Given the description of an element on the screen output the (x, y) to click on. 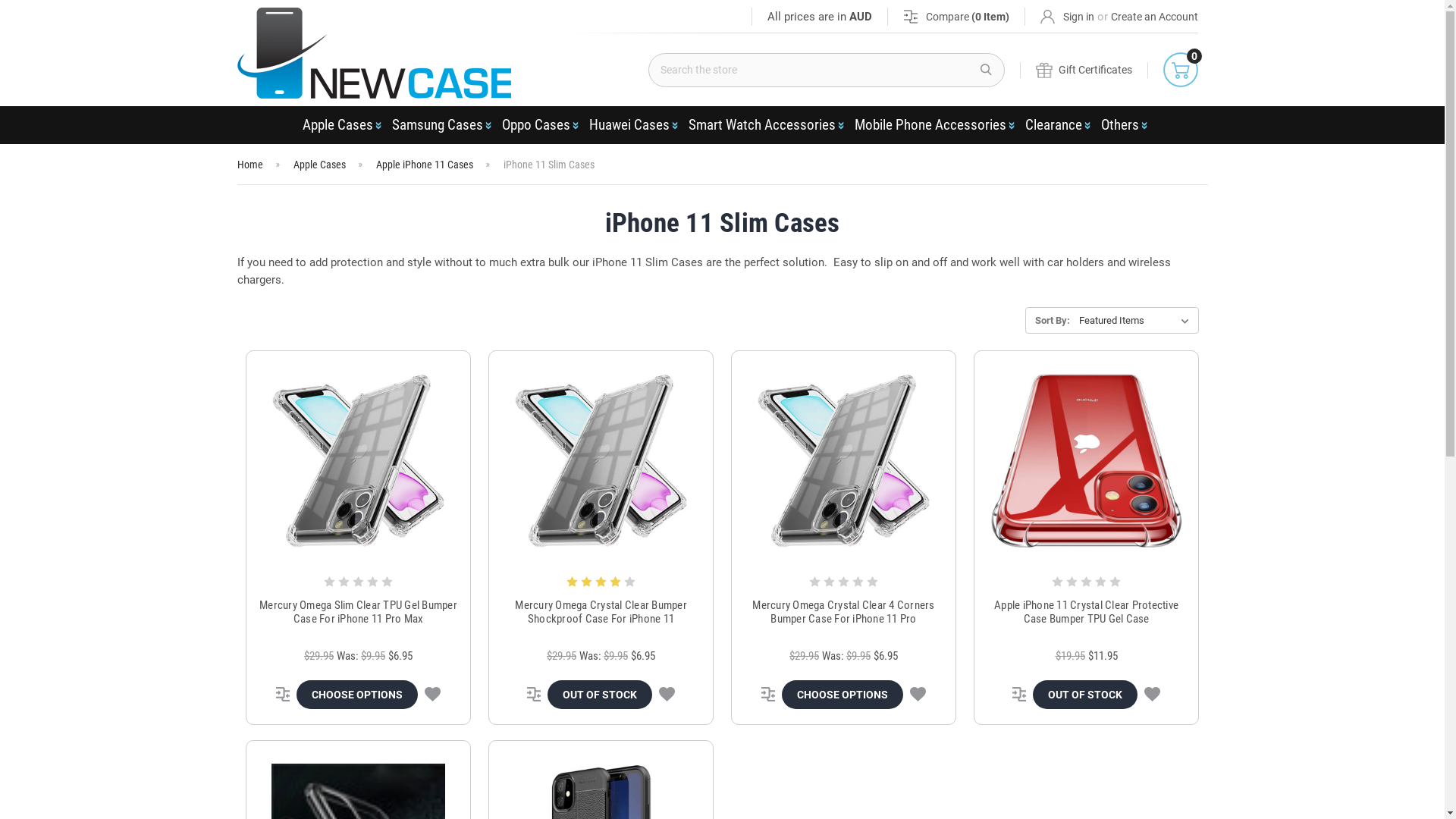
CHOOSE OPTIONS Element type: text (842, 694)
Compare (0 Item) Element type: text (956, 16)
Others Element type: text (1121, 125)
WISHLIST Element type: text (1152, 694)
Home Element type: text (249, 164)
WISHLIST Element type: text (432, 694)
New Case Element type: hover (373, 52)
Apple Cases Element type: text (338, 125)
WISHLIST Element type: text (666, 694)
Apple Cases Element type: text (318, 164)
Samsung Cases Element type: text (438, 125)
Sign in Element type: text (1067, 16)
OUT OF STOCK Element type: text (599, 694)
Mobile Phone Accessories Element type: text (931, 125)
Gift Certificates Element type: text (1083, 70)
Smart Watch Accessories Element type: text (763, 125)
Search Element type: text (985, 70)
OUT OF STOCK Element type: text (1084, 694)
Clearance Element type: text (1055, 125)
Oppo Cases Element type: text (537, 125)
WISHLIST Element type: text (917, 694)
Apple iPhone 11 Cases Element type: text (424, 164)
0 Element type: text (1180, 69)
Create an Account Element type: text (1154, 16)
CHOOSE OPTIONS Element type: text (356, 694)
Huawei Cases Element type: text (630, 125)
